Given the description of an element on the screen output the (x, y) to click on. 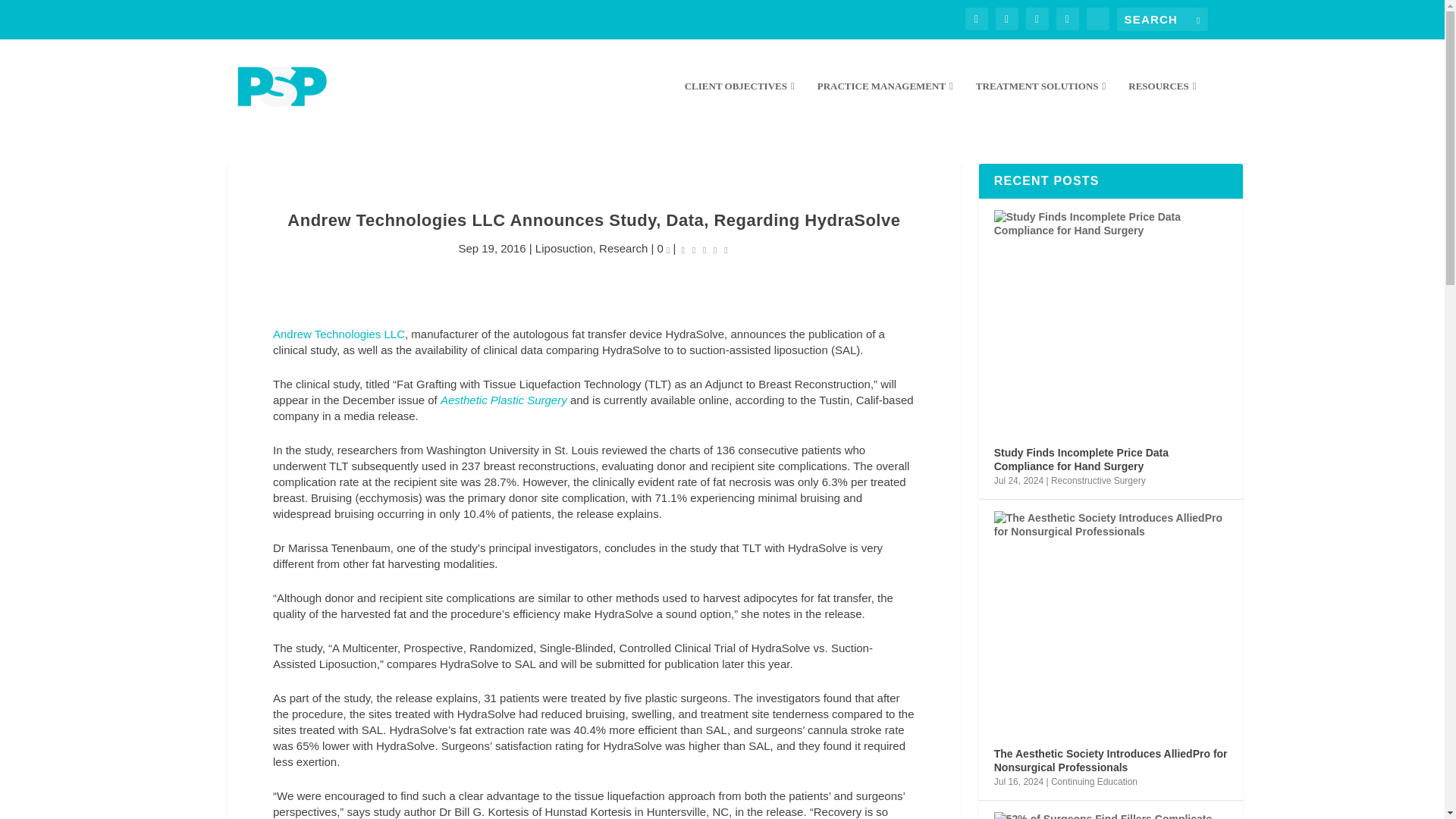
Rating: 0.00 (704, 248)
Research (622, 247)
Andrew Technologies LLC (338, 333)
0 (663, 247)
TREATMENT SOLUTIONS (1040, 106)
Liposuction (563, 247)
Aesthetic Plastic Surgery (504, 399)
RESOURCES (1161, 106)
PRACTICE MANAGEMENT (884, 106)
CLIENT OBJECTIVES (739, 106)
Search for: (1161, 19)
